Given the description of an element on the screen output the (x, y) to click on. 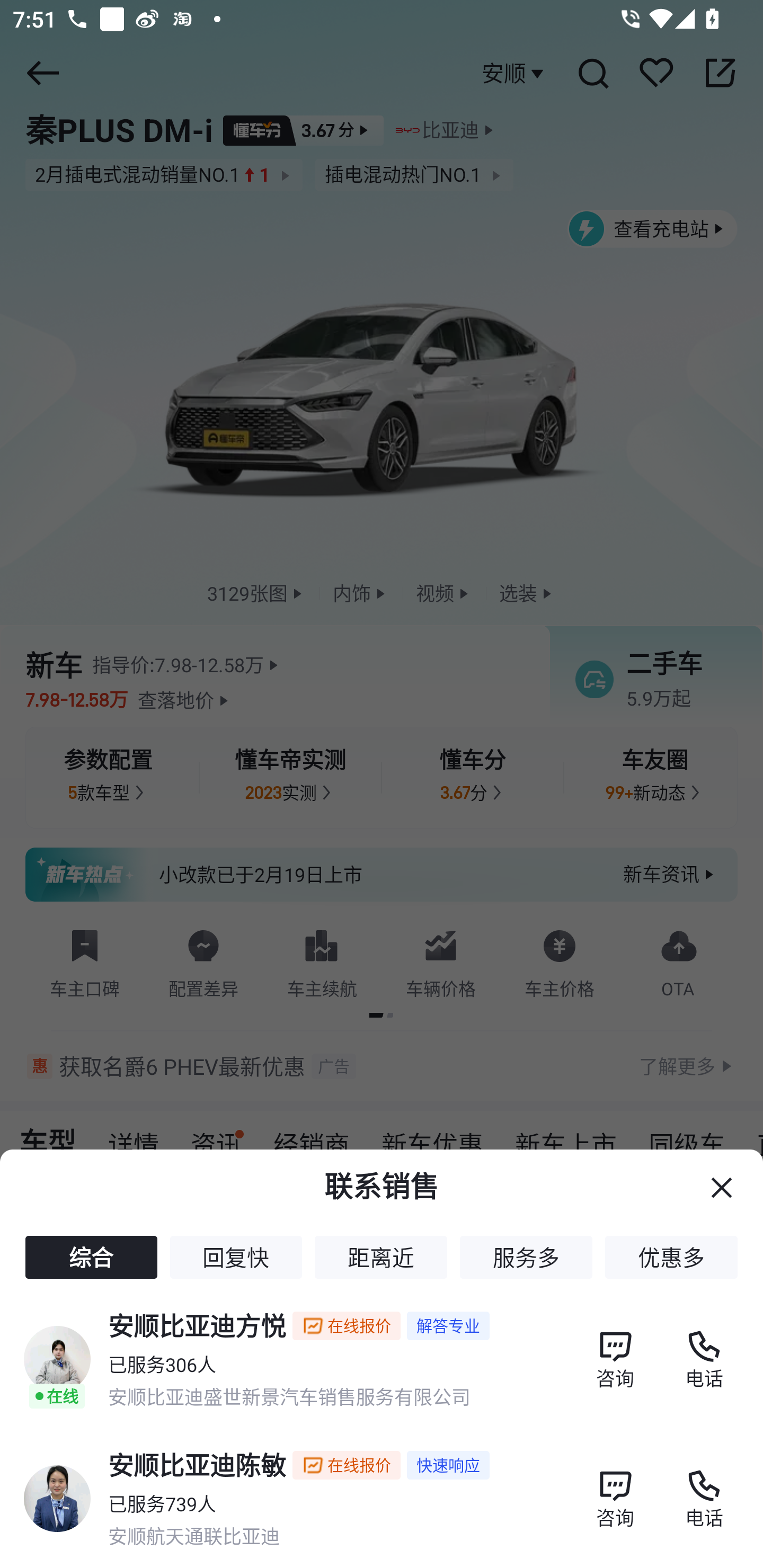
 (721, 1187)
综合 (91, 1257)
回复快 (236, 1257)
距离近 (380, 1257)
服务多 (526, 1257)
优惠多 (671, 1257)
安顺比亚迪方悦 (197, 1324)
 咨询 (614, 1348)
 电话 (704, 1348)
已服务306人 (161, 1363)
安顺比亚迪陈敏 (197, 1464)
 咨询 (614, 1488)
 电话 (704, 1488)
已服务739人 (161, 1503)
